Given the description of an element on the screen output the (x, y) to click on. 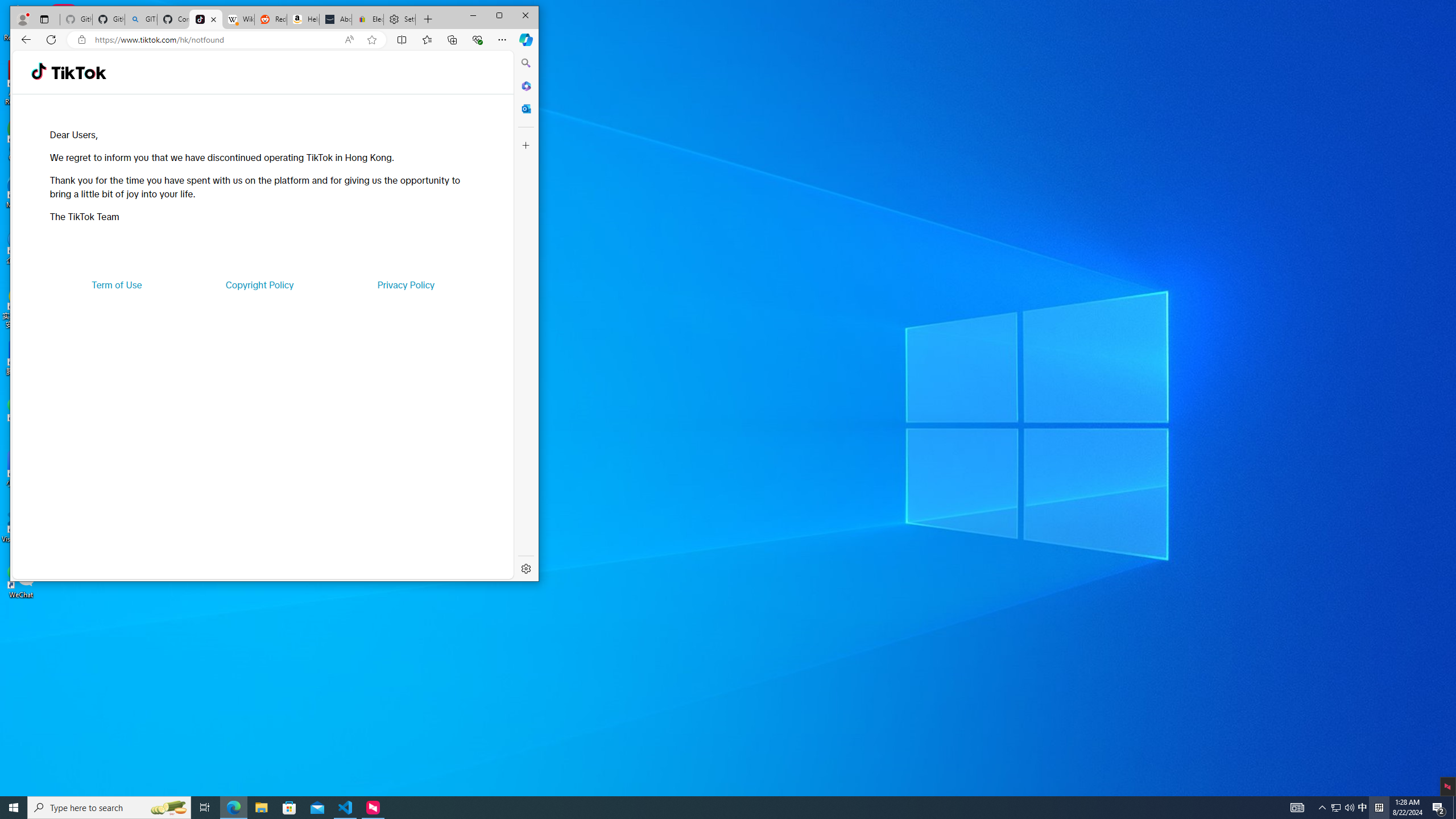
Copyright Policy (259, 284)
About Amazon (335, 19)
Maximize (499, 15)
Notification Chevron (1322, 807)
File Explorer (261, 807)
Term of Use (116, 284)
Reddit - Dive into anything (269, 19)
